Given the description of an element on the screen output the (x, y) to click on. 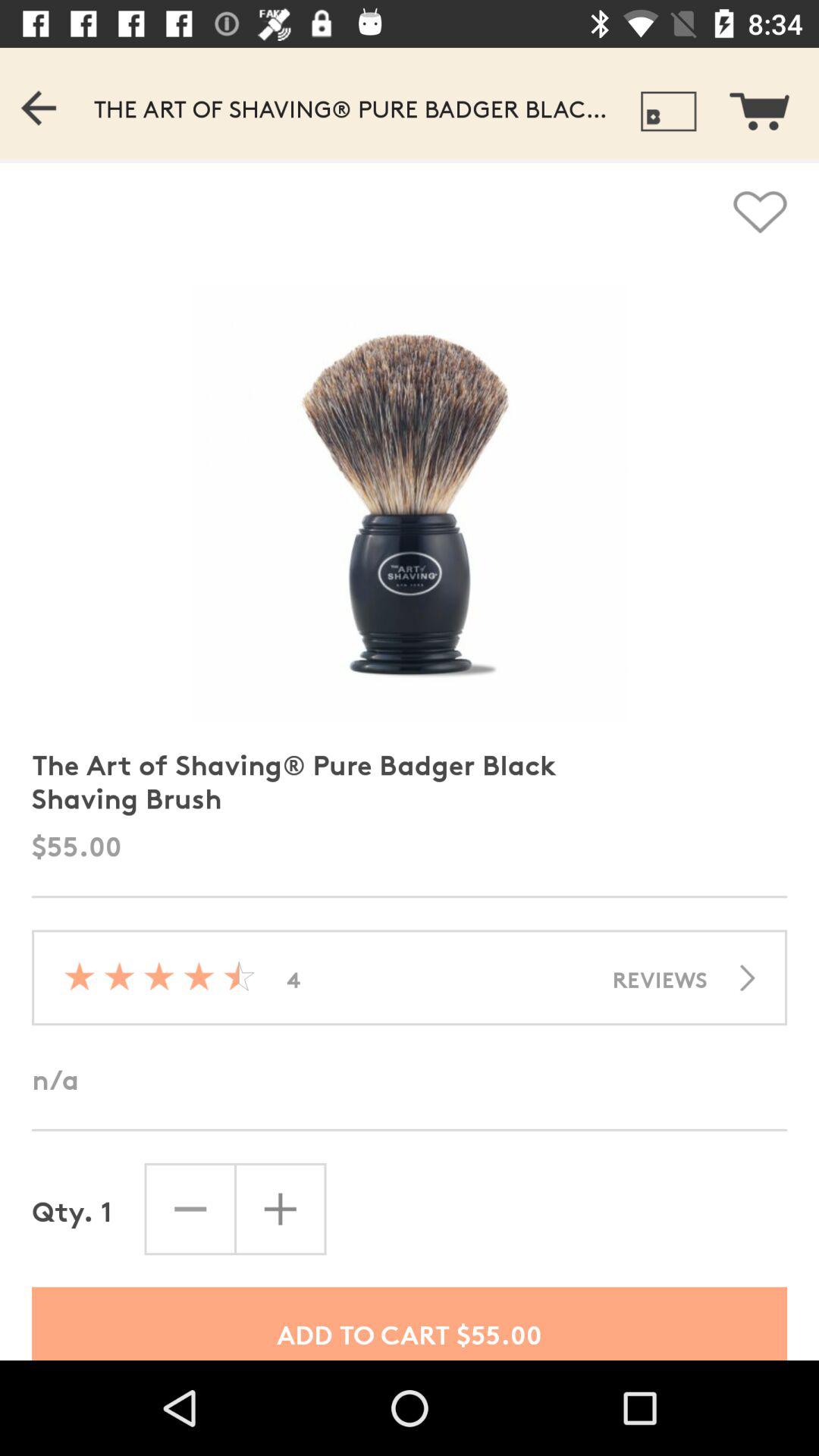
see shopping cart (769, 103)
